Given the description of an element on the screen output the (x, y) to click on. 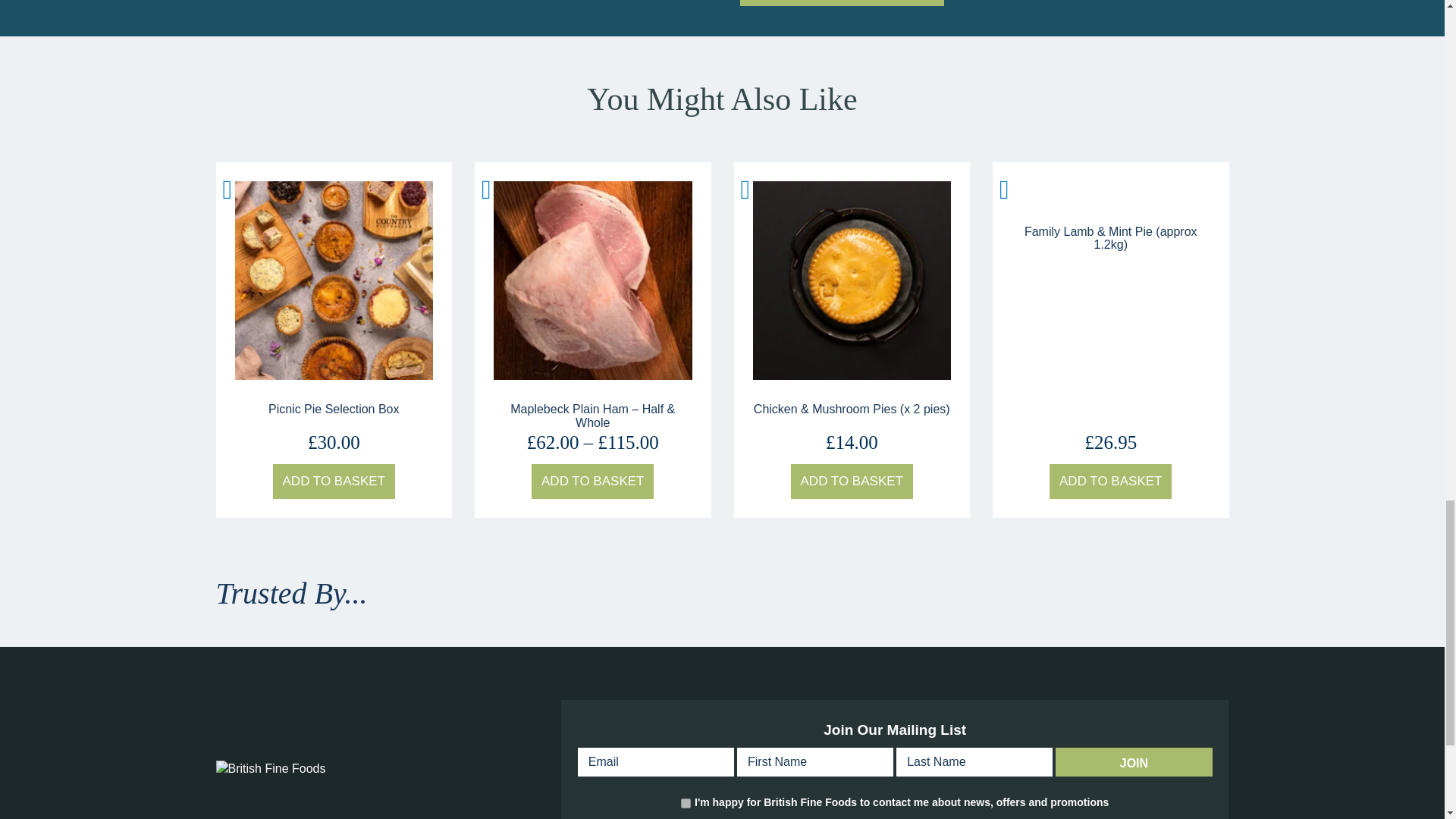
Join (1133, 761)
1 (685, 803)
BUY NOW (841, 3)
